Given the description of an element on the screen output the (x, y) to click on. 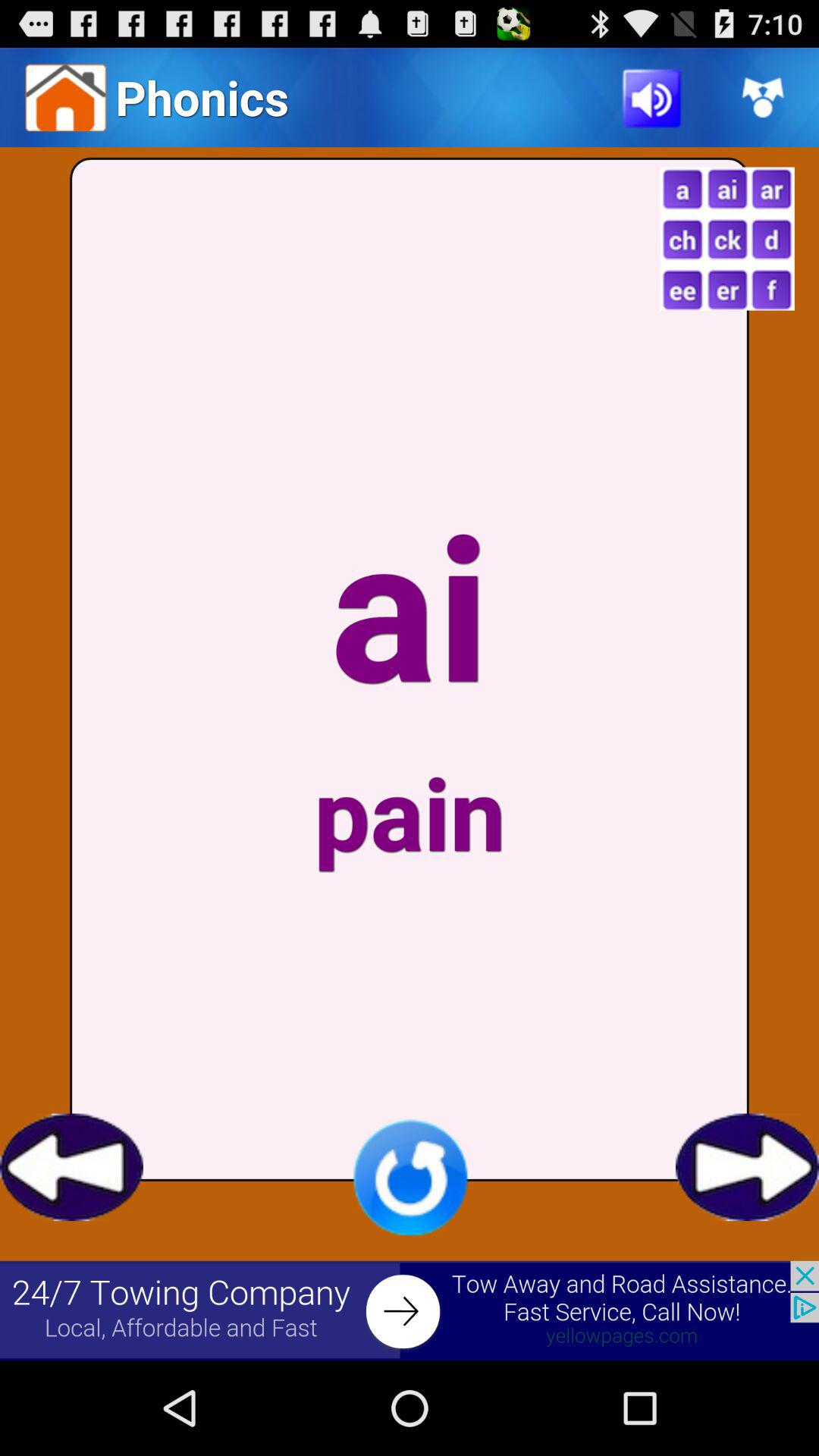
go to advertisement website (409, 1310)
